Given the description of an element on the screen output the (x, y) to click on. 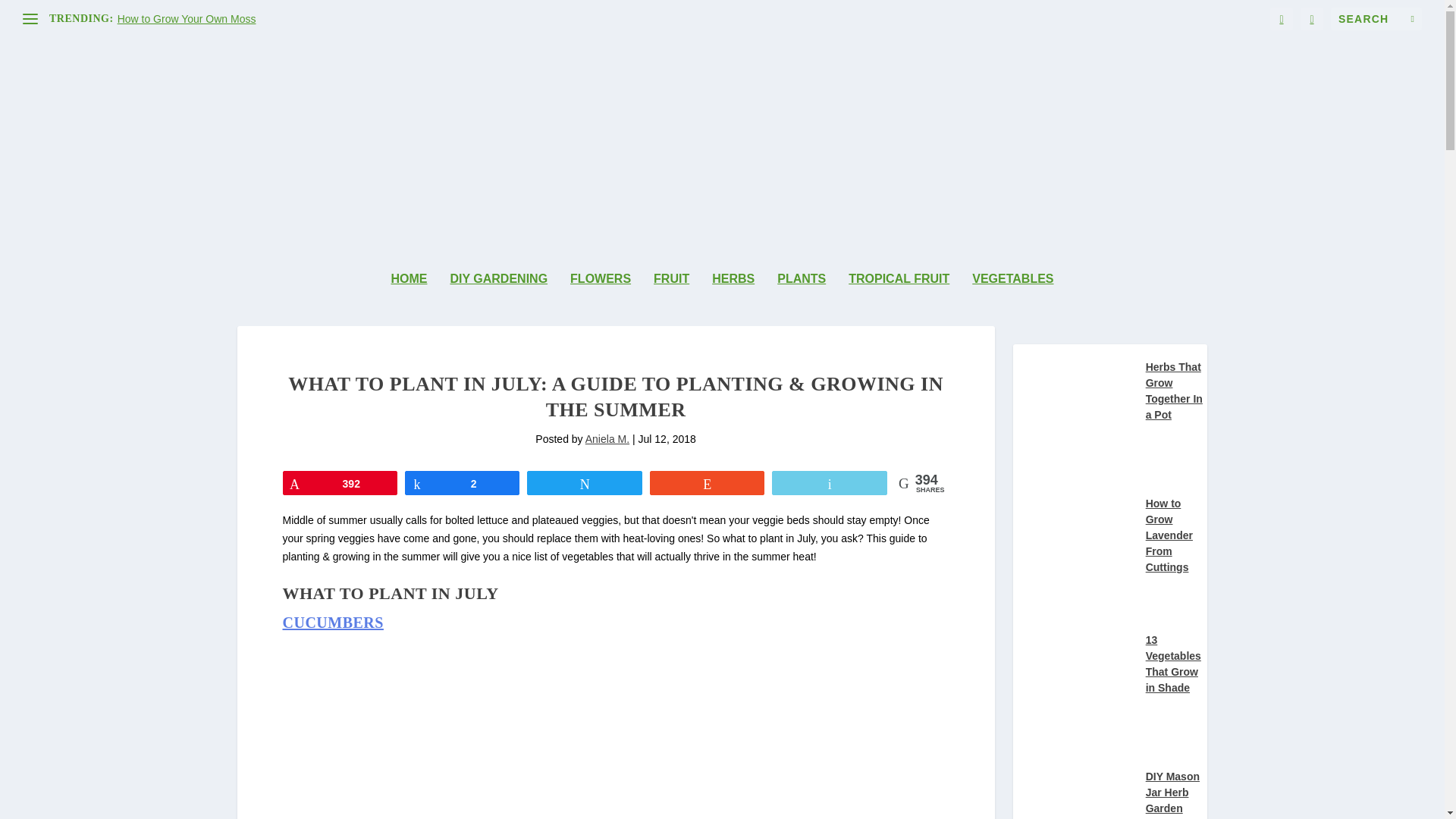
Search for: (1376, 18)
VEGETABLES (1012, 298)
Aniela M. (606, 439)
DIY GARDENING (498, 298)
Posts by Aniela M. (606, 439)
FLOWERS (600, 298)
CUCUMBERS (332, 622)
2 (462, 482)
TROPICAL FRUIT (898, 298)
vertical cucumbers (471, 729)
